Given the description of an element on the screen output the (x, y) to click on. 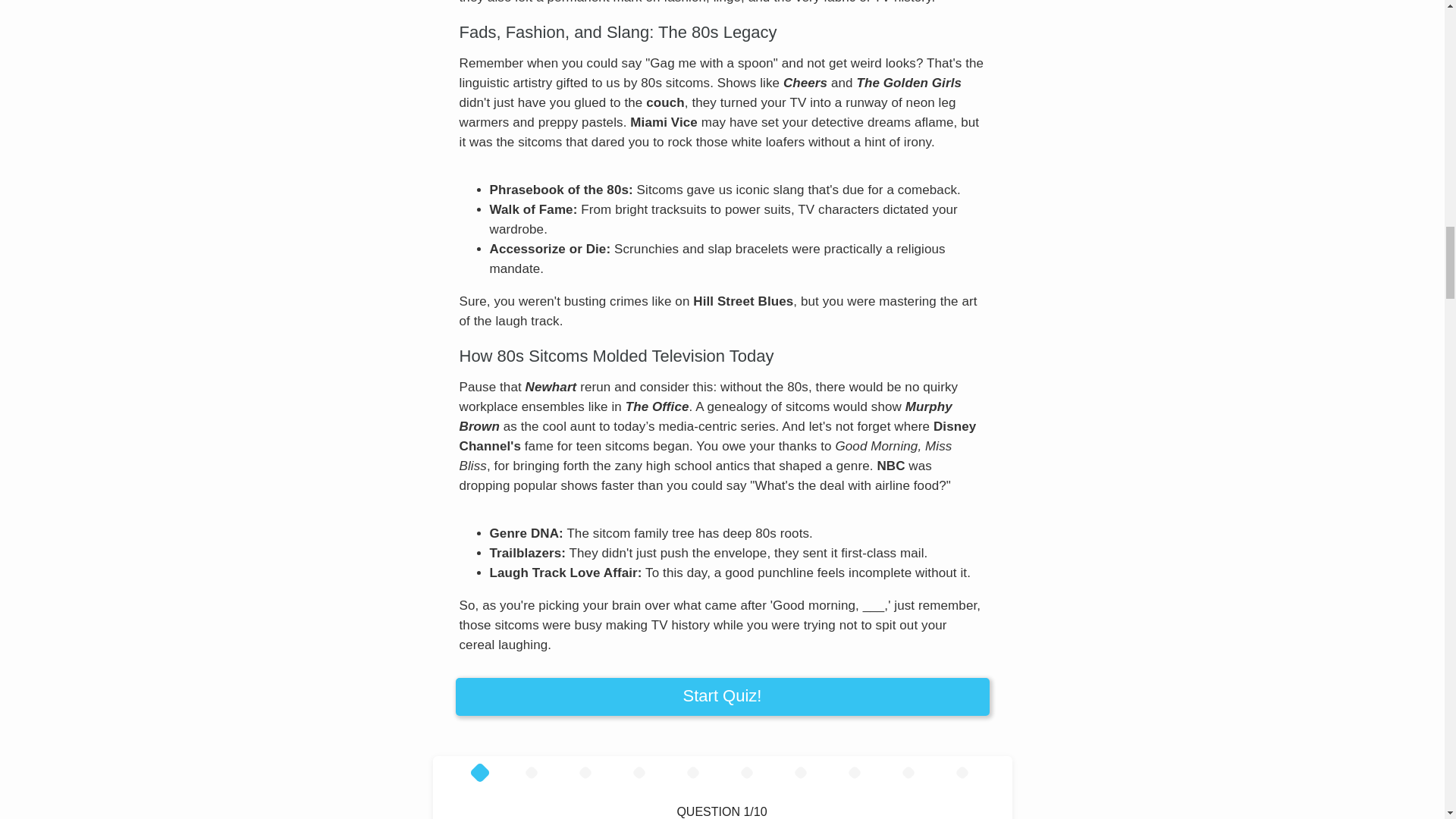
Start Quiz! (721, 696)
